Given the description of an element on the screen output the (x, y) to click on. 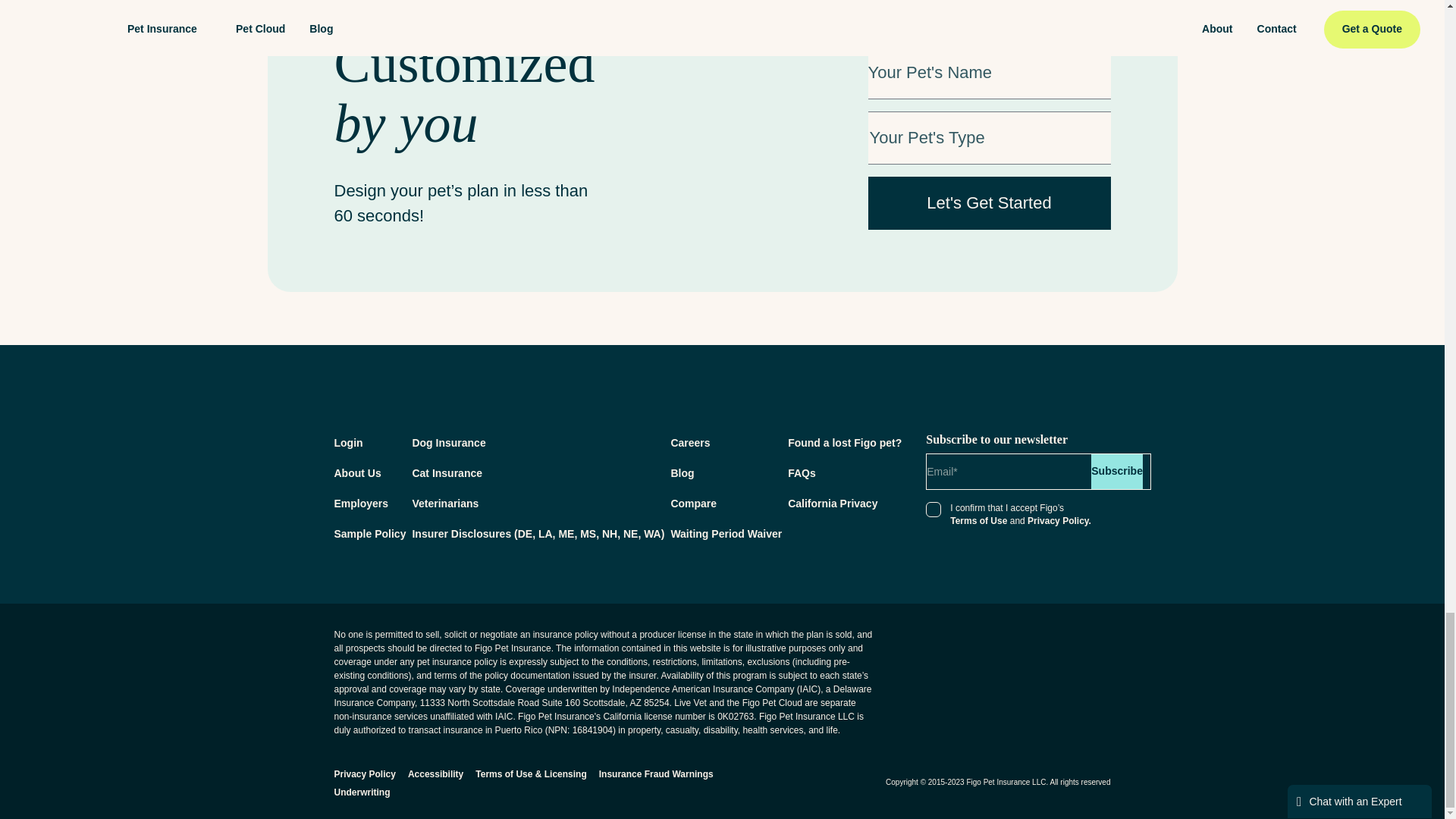
opens in a new window  (537, 533)
Privacy Policy. (1058, 520)
opens in a new window  (1091, 646)
Veterinarians (445, 503)
Careers (689, 442)
opens in a new window  (725, 533)
Dog Insurance (448, 442)
opens in a new window  (369, 533)
opens in a new window  (1055, 646)
Cat Insurance (446, 472)
